Given the description of an element on the screen output the (x, y) to click on. 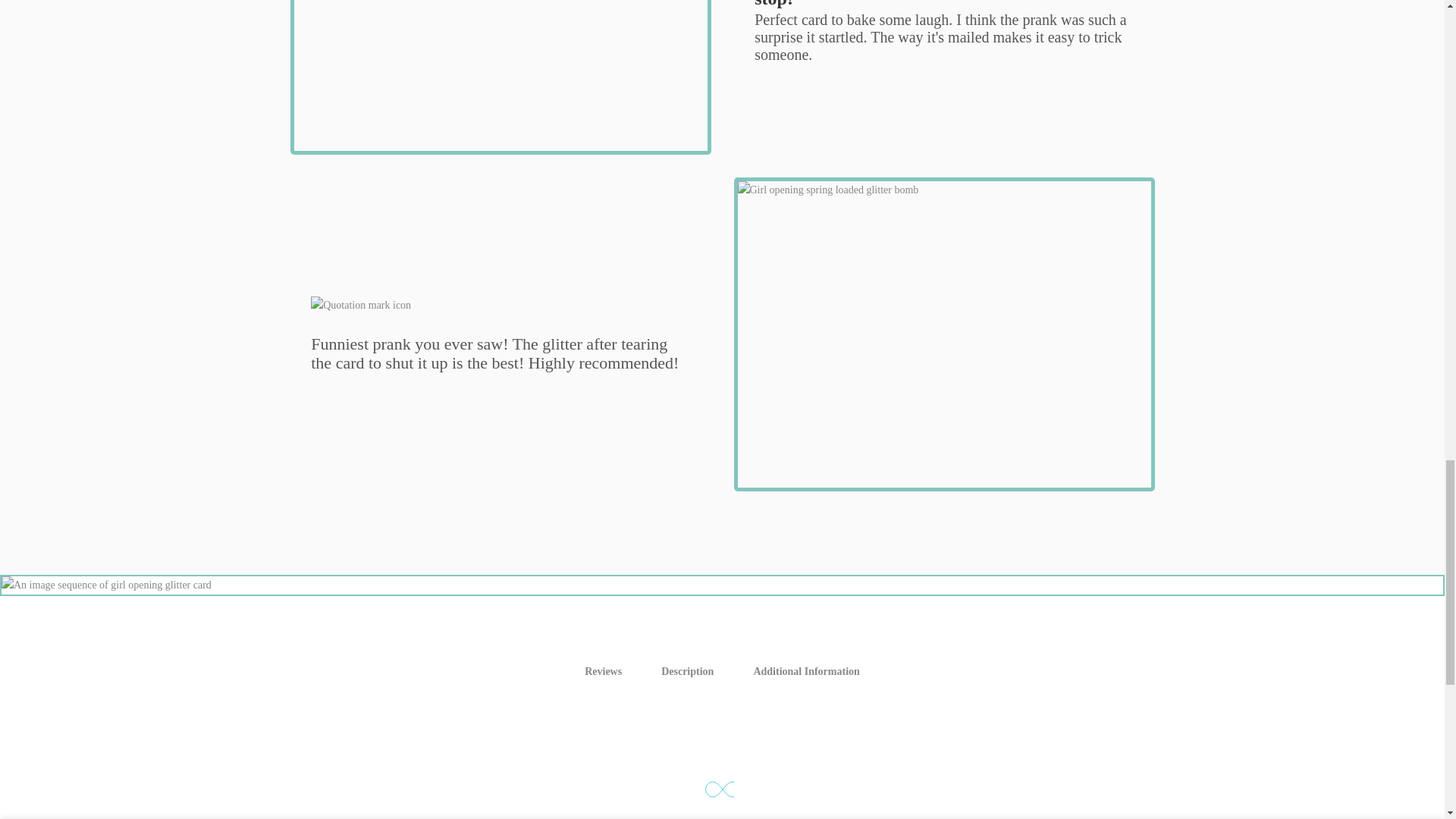
Reviews (603, 671)
Description (687, 671)
Girl opening spring loaded glitter bomb (943, 333)
Quotation mark icon (500, 315)
Opening glitter bomb card (499, 77)
Additional Information (806, 671)
